Given the description of an element on the screen output the (x, y) to click on. 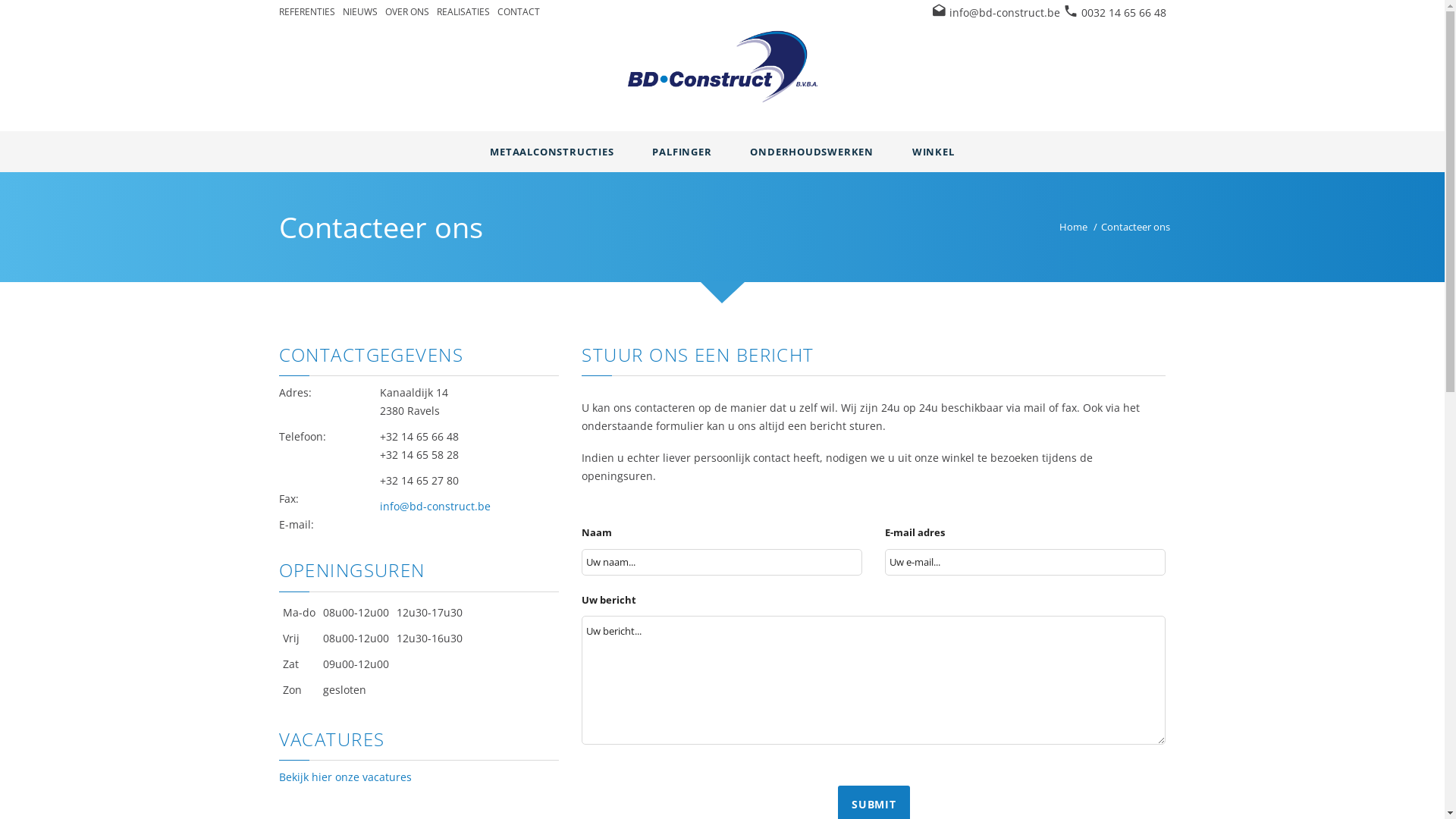
WINKEL Element type: text (933, 151)
OVER ONS Element type: text (407, 11)
PALFINGER Element type: text (681, 151)
Bekijk hier onze vacatures Element type: text (345, 776)
ONDERHOUDSWERKEN Element type: text (811, 151)
NIEUWS Element type: text (359, 11)
+32 14 65 27 80 Element type: text (418, 480)
+32 14 65 58 28 Element type: text (418, 454)
Home Element type: text (1072, 226)
+32 14 65 66 48 Element type: text (418, 436)
0032 14 65 66 48 Element type: text (1123, 12)
REFERENTIES Element type: text (307, 11)
METAALCONSTRUCTIES Element type: text (551, 151)
REALISATIES Element type: text (462, 11)
info@bd-construct.be Element type: text (434, 505)
CONTACT Element type: text (518, 11)
info@bd-construct.be Element type: text (1004, 12)
